Given the description of an element on the screen output the (x, y) to click on. 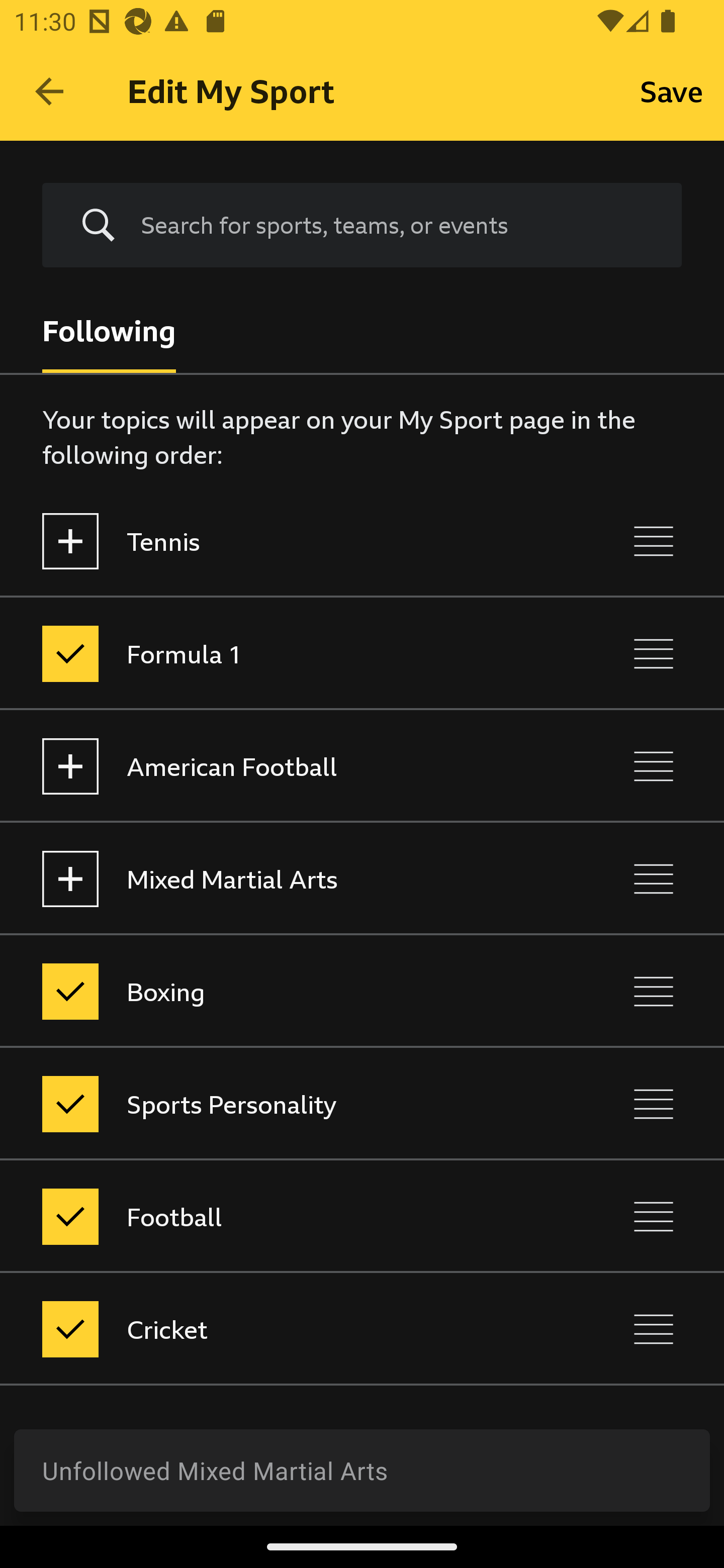
Navigate up (49, 91)
Save (671, 90)
Search for sports, teams, or events (361, 225)
Search for sports, teams, or events (396, 224)
Tennis (277, 540)
Reorder Tennis (653, 540)
Formula 1 (277, 653)
Reorder Formula 1 (653, 653)
American Football (277, 766)
Reorder American Football (653, 766)
Mixed Martial Arts (277, 878)
Reorder Mixed Martial Arts (653, 878)
Boxing (277, 990)
Reorder Boxing (653, 990)
Sports Personality (277, 1103)
Reorder Sports Personality (653, 1103)
Football (277, 1216)
Reorder Football (653, 1216)
Cricket (277, 1329)
Reorder Cricket (653, 1329)
